Given the description of an element on the screen output the (x, y) to click on. 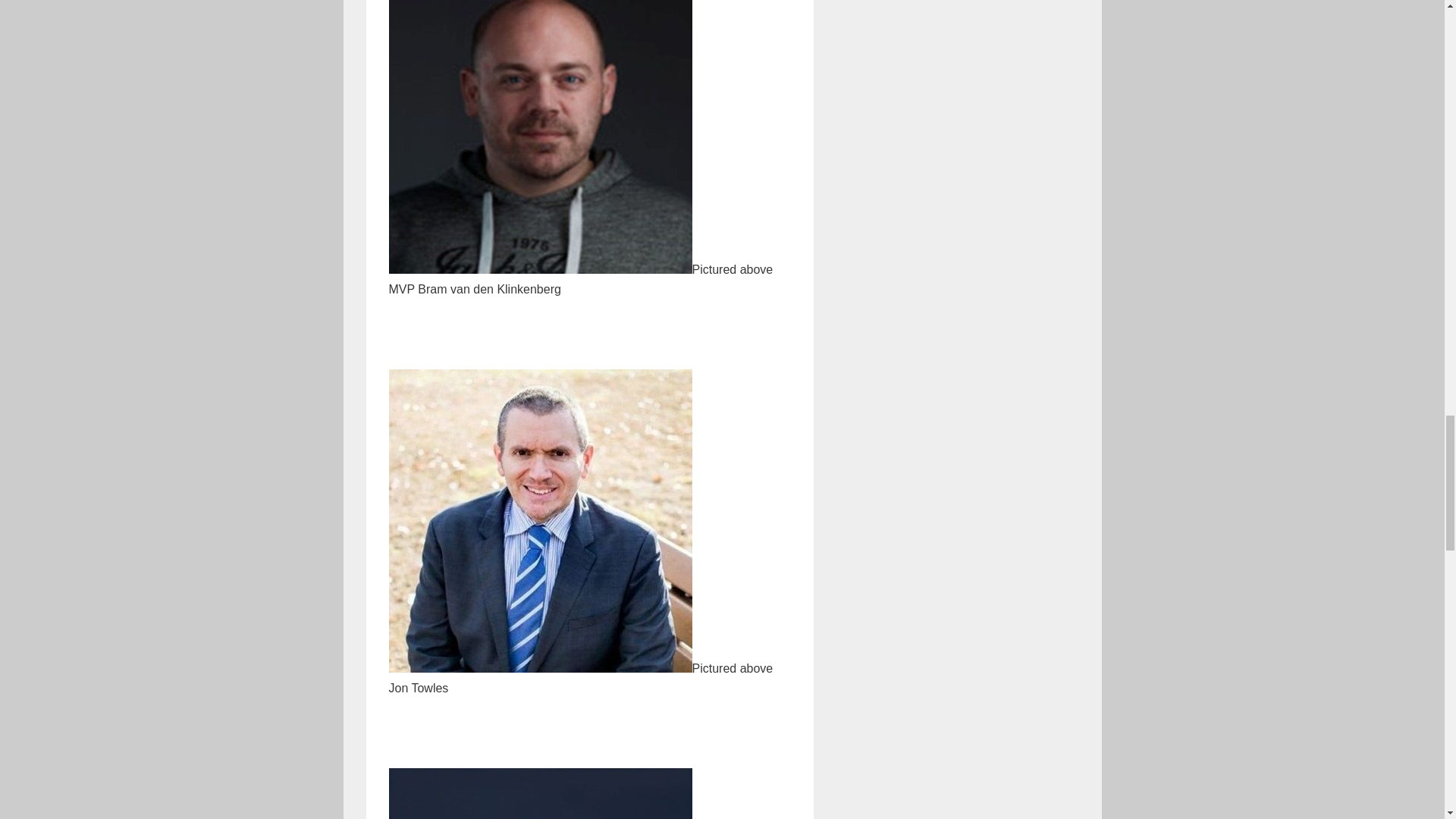
Bram 2.jpg (539, 136)
Jon 2.jpg (539, 520)
Michael 2.jpg (539, 793)
